Given the description of an element on the screen output the (x, y) to click on. 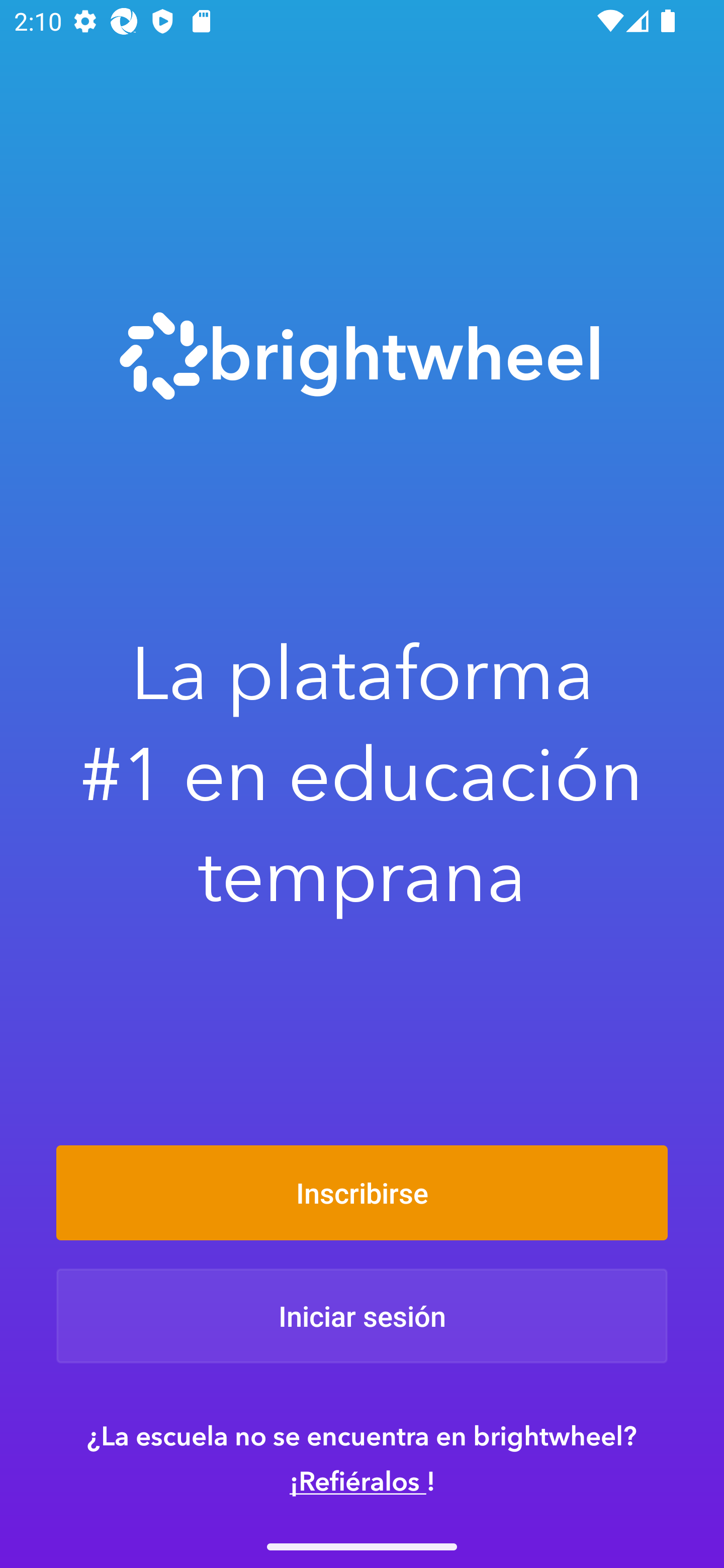
Inscribirse (361, 1192)
Iniciar sesión (361, 1316)
